Given the description of an element on the screen output the (x, y) to click on. 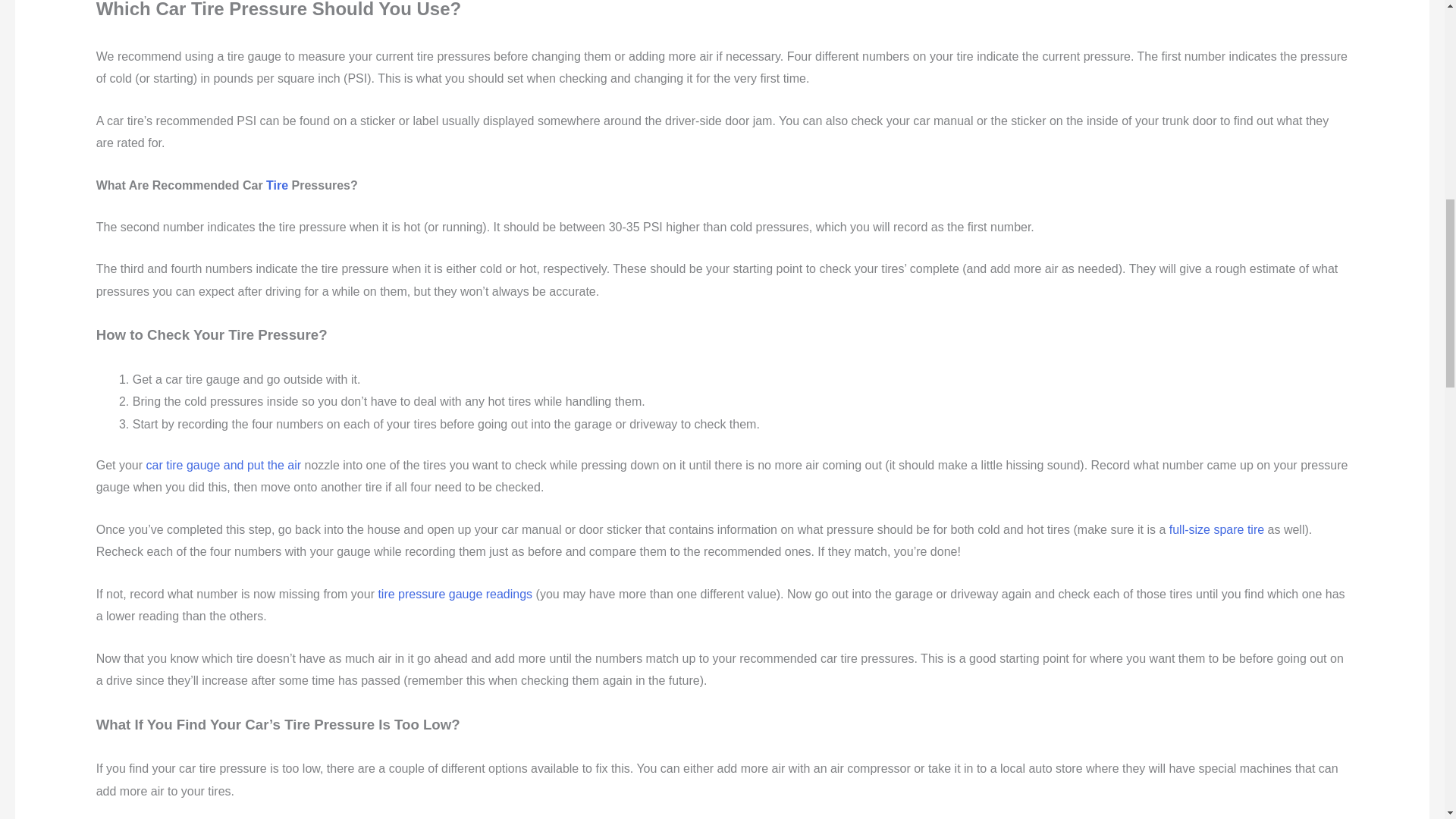
difference between 225 and 245 tires (277, 185)
How to Read Tire Size (454, 594)
Air Lift vs Firestone Airbags (224, 464)
